Given the description of an element on the screen output the (x, y) to click on. 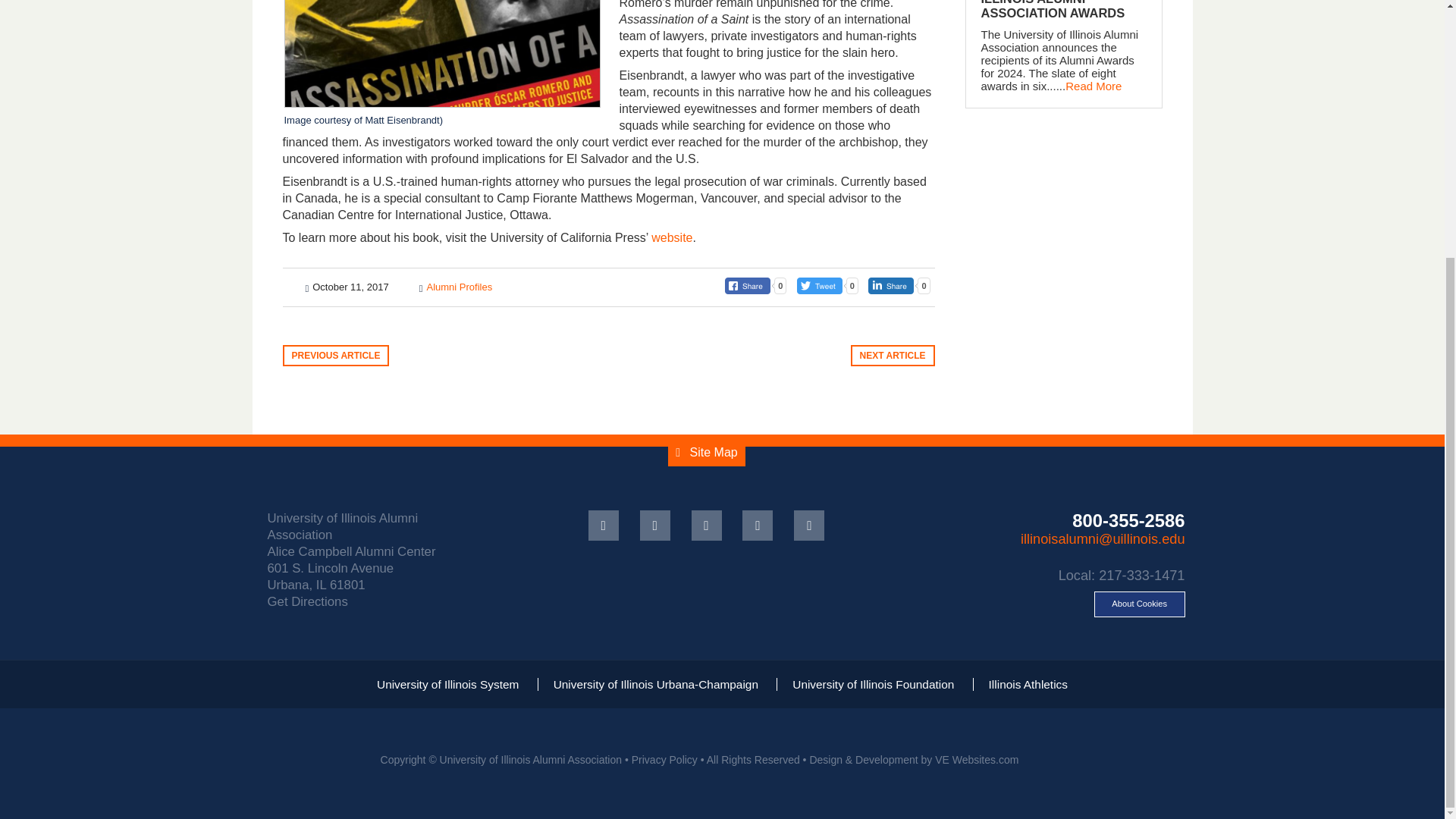
Facebook (603, 525)
Instagram (808, 525)
Linkedin (706, 525)
Flickr (757, 525)
Twitter (654, 525)
